Given the description of an element on the screen output the (x, y) to click on. 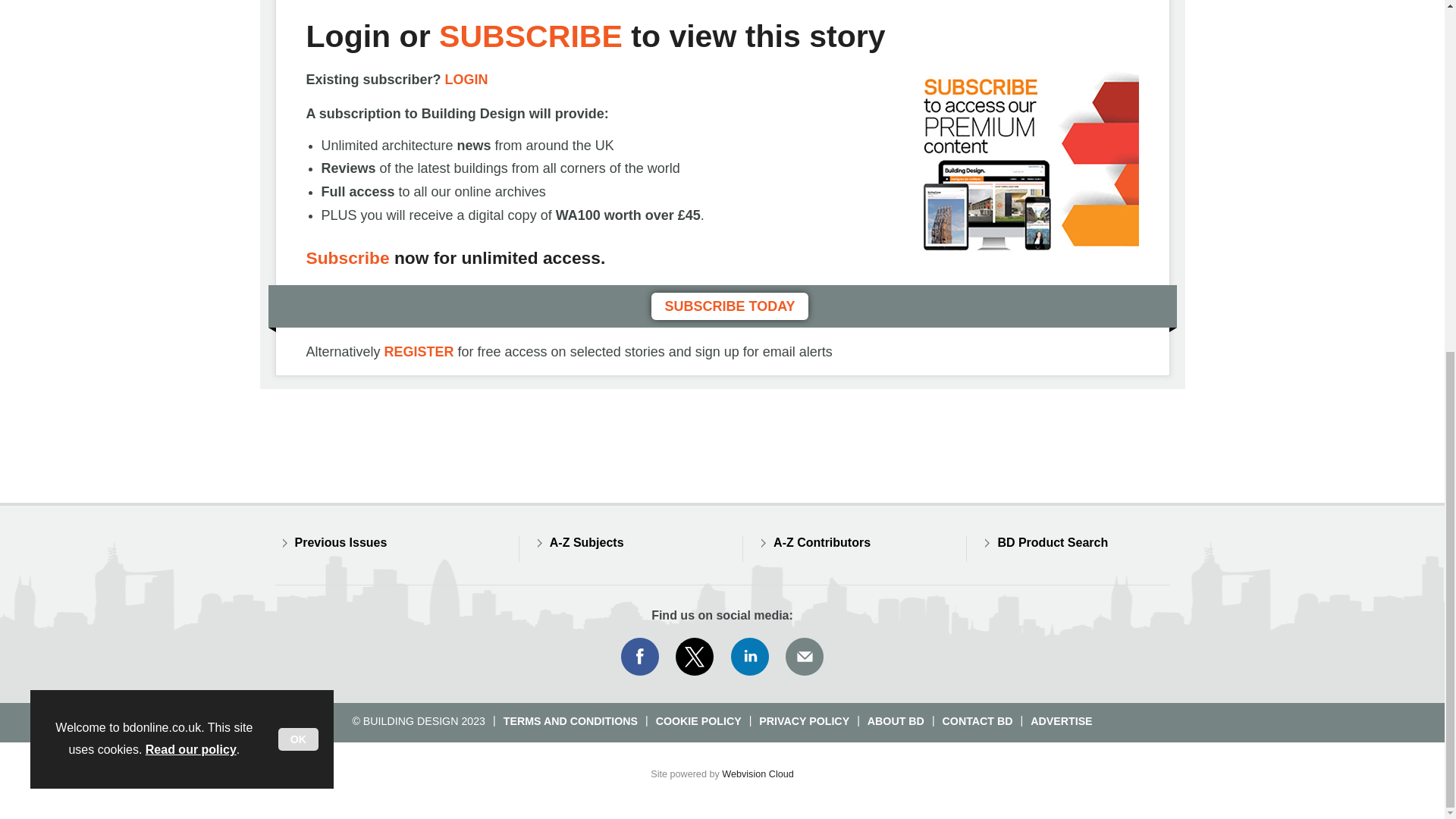
Connect with us on Linked in (750, 656)
OK (298, 128)
Connect with us on Twitter (694, 656)
Email us (804, 656)
Read our policy (190, 137)
Connect with us on Facebook (639, 656)
